Given the description of an element on the screen output the (x, y) to click on. 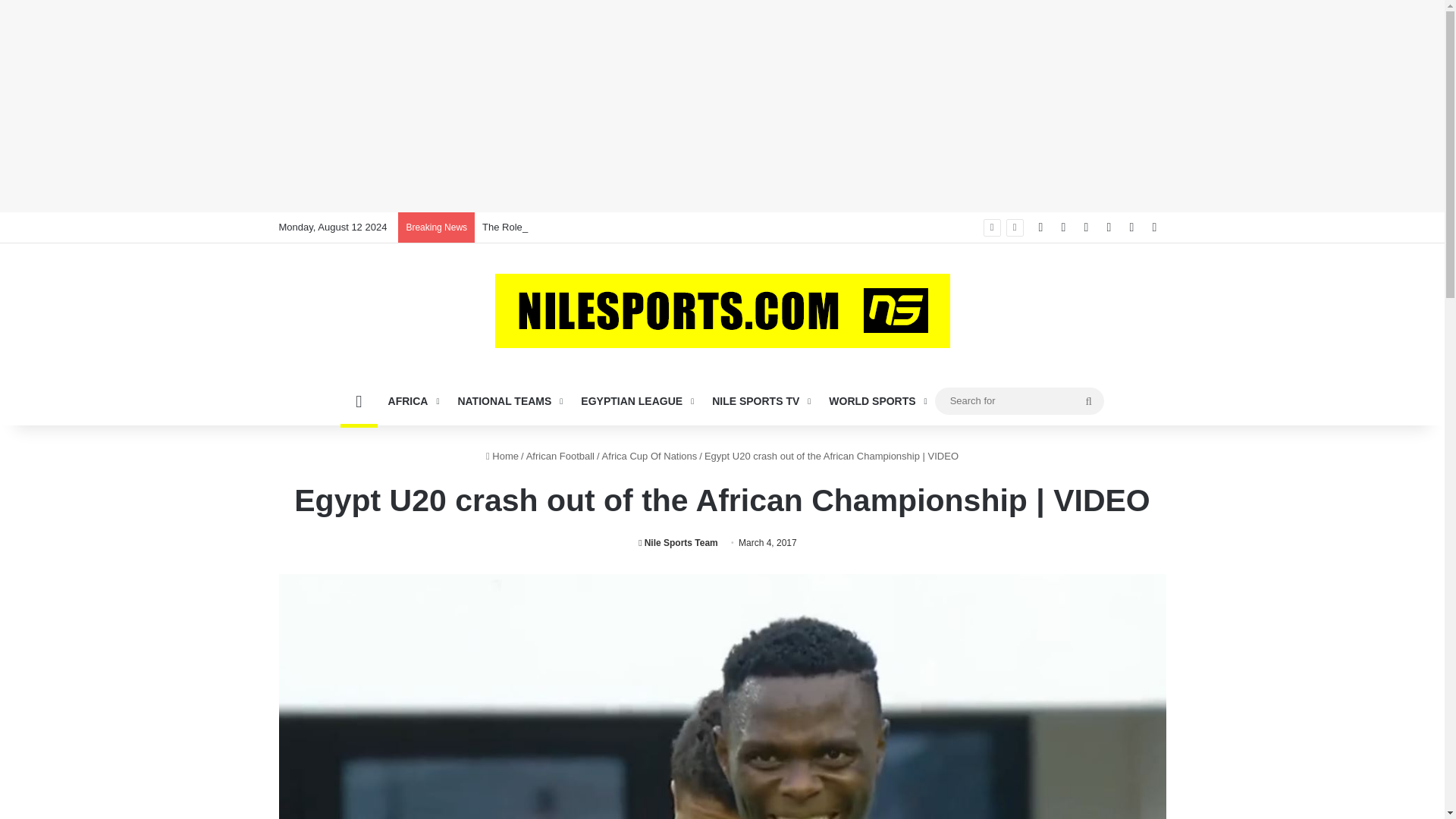
NILE SPORTS TV (759, 401)
WORLD SPORTS (876, 401)
NileSports.com (722, 310)
Search for (1018, 400)
Egyptian National Football Team (508, 401)
Nile Sports Team (678, 542)
NATIONAL TEAMS (508, 401)
Egyptian Premier League (635, 401)
EGYPTIAN LEAGUE (635, 401)
AFRICA (411, 401)
